Given the description of an element on the screen output the (x, y) to click on. 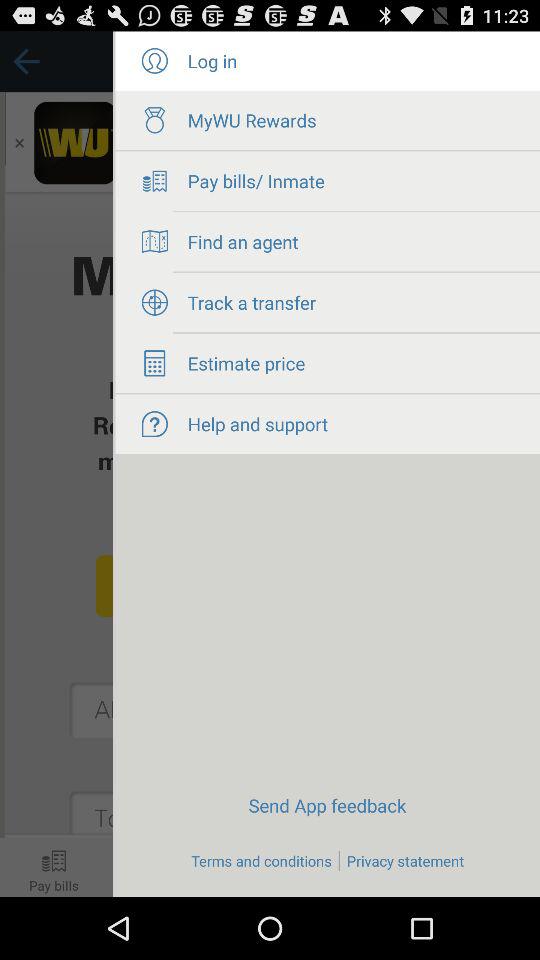
check user profile (154, 61)
